Given the description of an element on the screen output the (x, y) to click on. 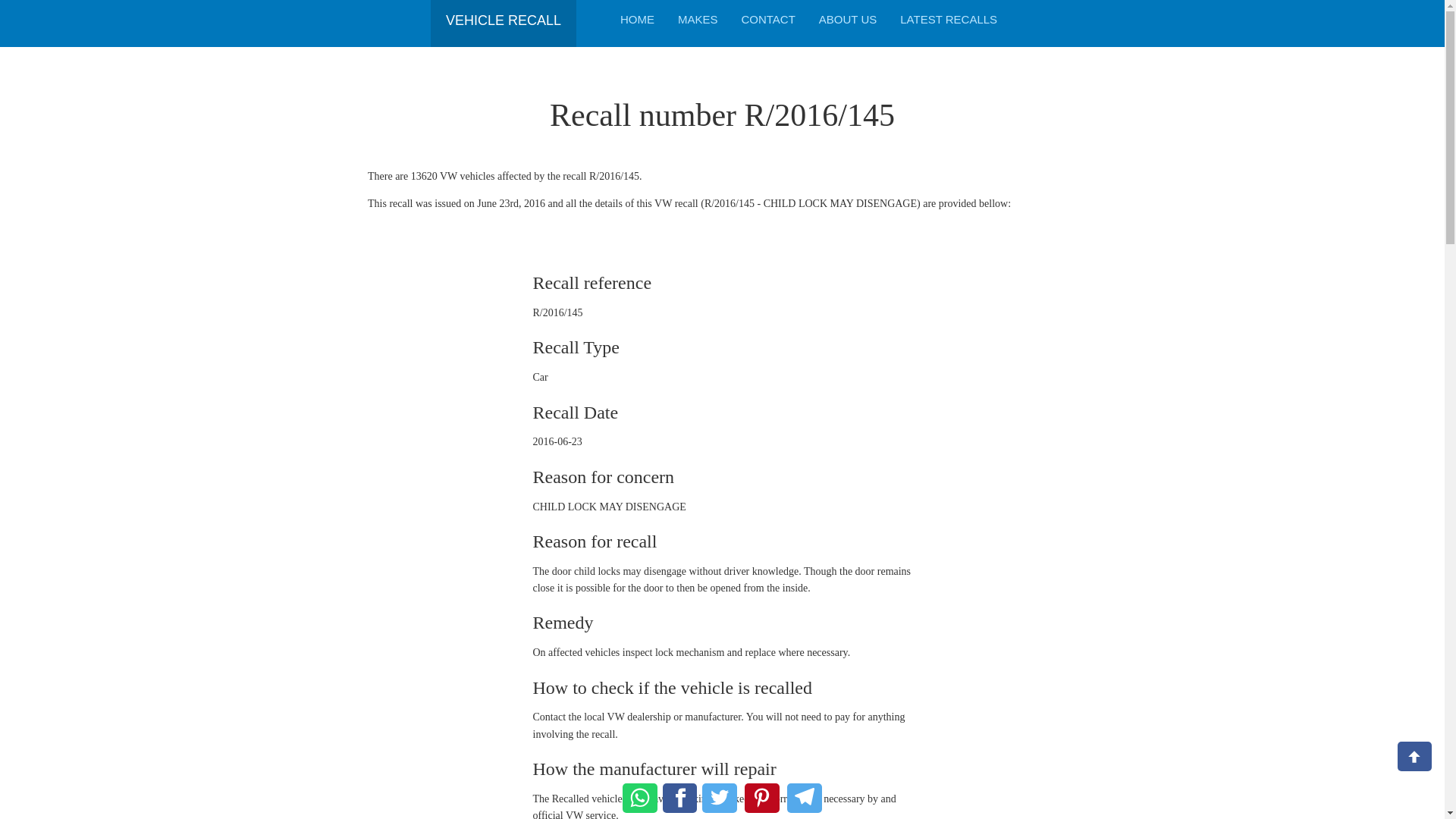
VEHICLE RECALL (502, 15)
MAKES (697, 19)
HOME (636, 19)
ABOUT US (848, 19)
CONTACT (767, 19)
LATEST RECALLS (948, 19)
